Given the description of an element on the screen output the (x, y) to click on. 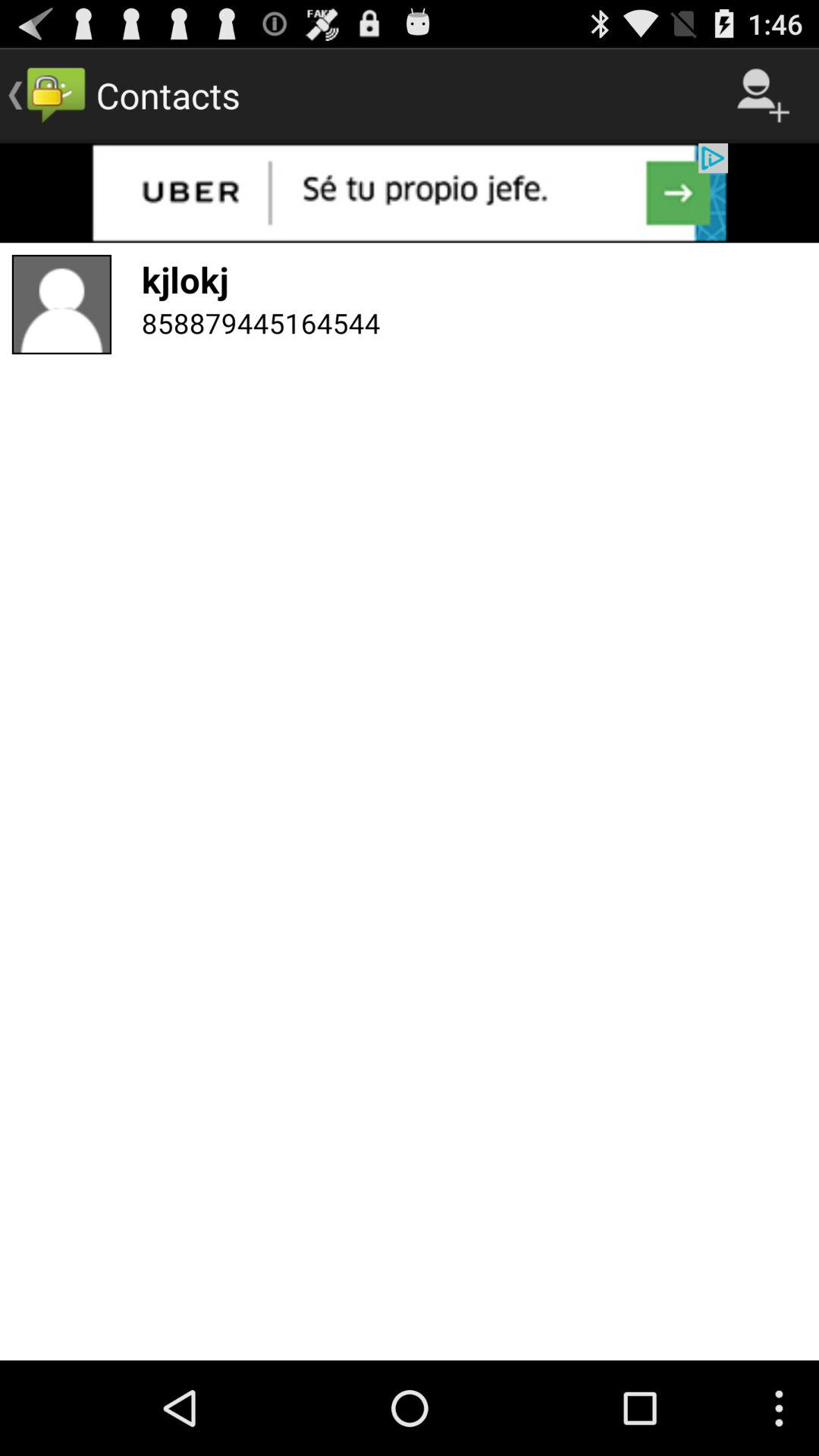
advertisement link (409, 192)
